Given the description of an element on the screen output the (x, y) to click on. 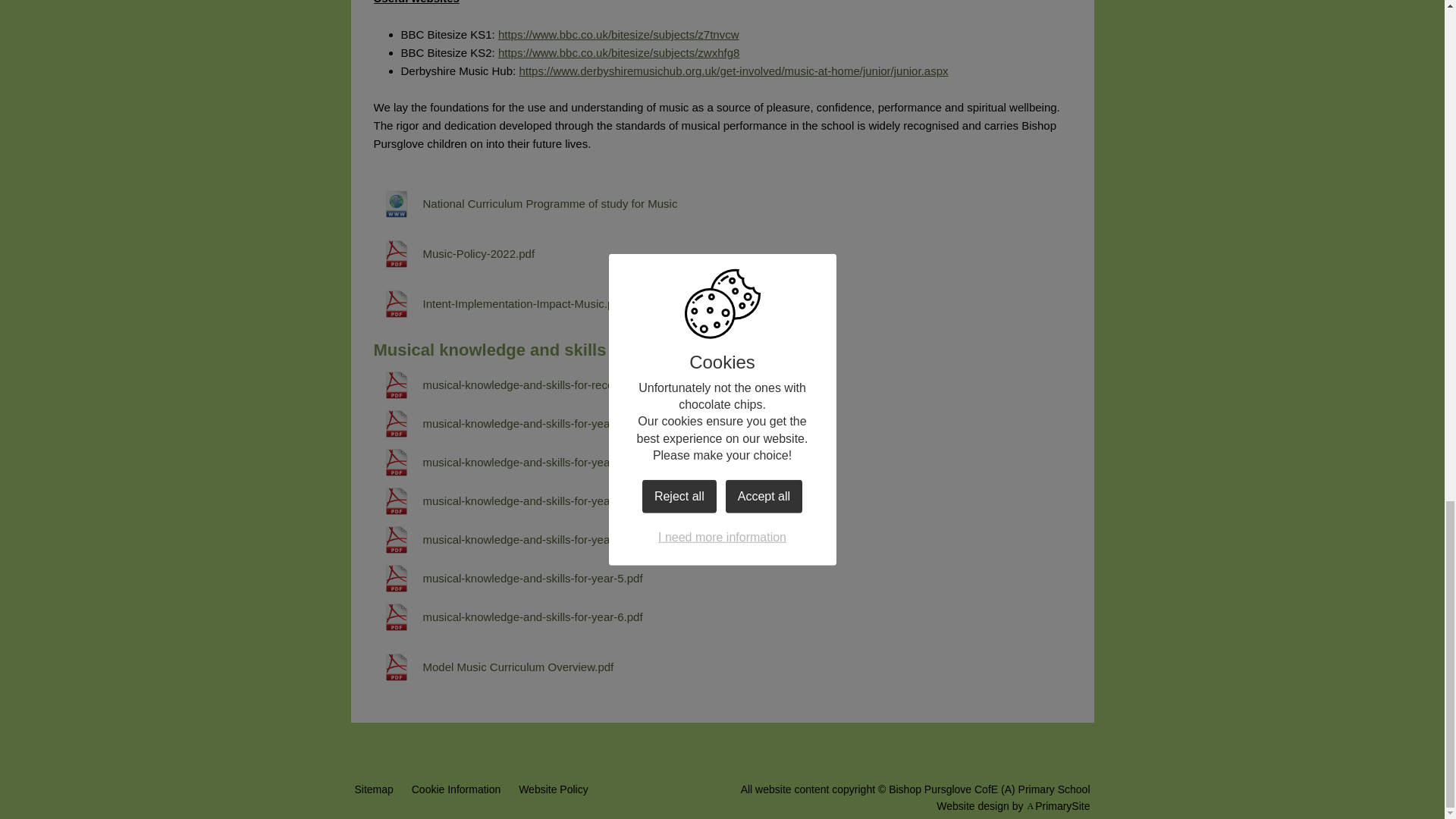
Intent-Implementation-Impact-Music.pdf (497, 303)
Model Music Curriculum Overview.pdf (492, 667)
musical-knowledge-and-skills-for-year-3.pdf (507, 501)
National Curriculum Programme of study for Music (524, 203)
musical-knowledge-and-skills-for-year-5.pdf (507, 578)
musical-knowledge-and-skills-for-year-1.pdf (507, 423)
musical-knowledge-and-skills-for-year-6.pdf (507, 616)
musical-knowledge-and-skills-for-reception.pdf (514, 384)
musical-knowledge-and-skills-for-year-2.pdf (507, 462)
Music-Policy-2022.pdf (453, 253)
